Given the description of an element on the screen output the (x, y) to click on. 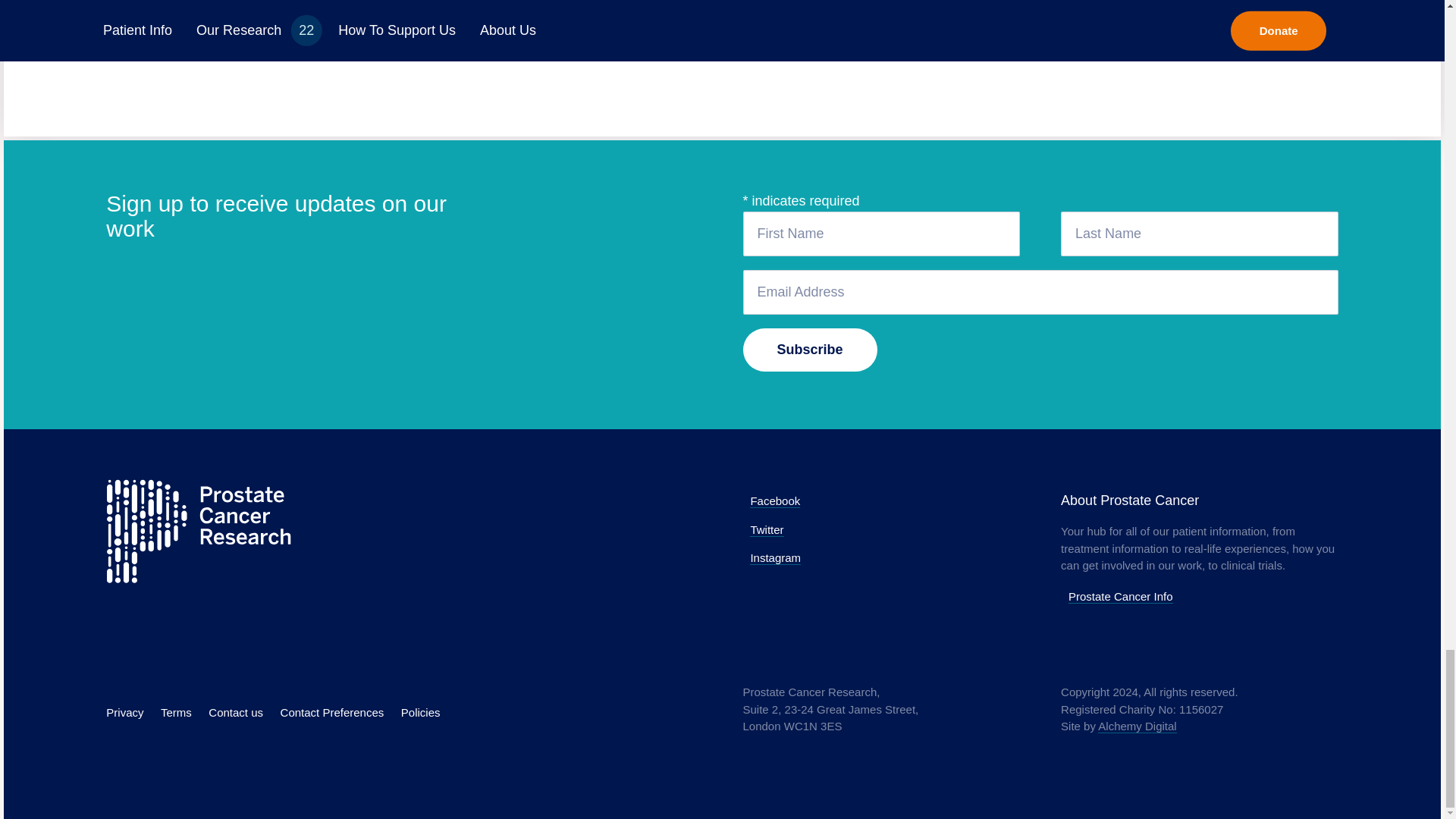
Subscribe (809, 349)
Website by Alchemy Digital (1136, 726)
